Given the description of an element on the screen output the (x, y) to click on. 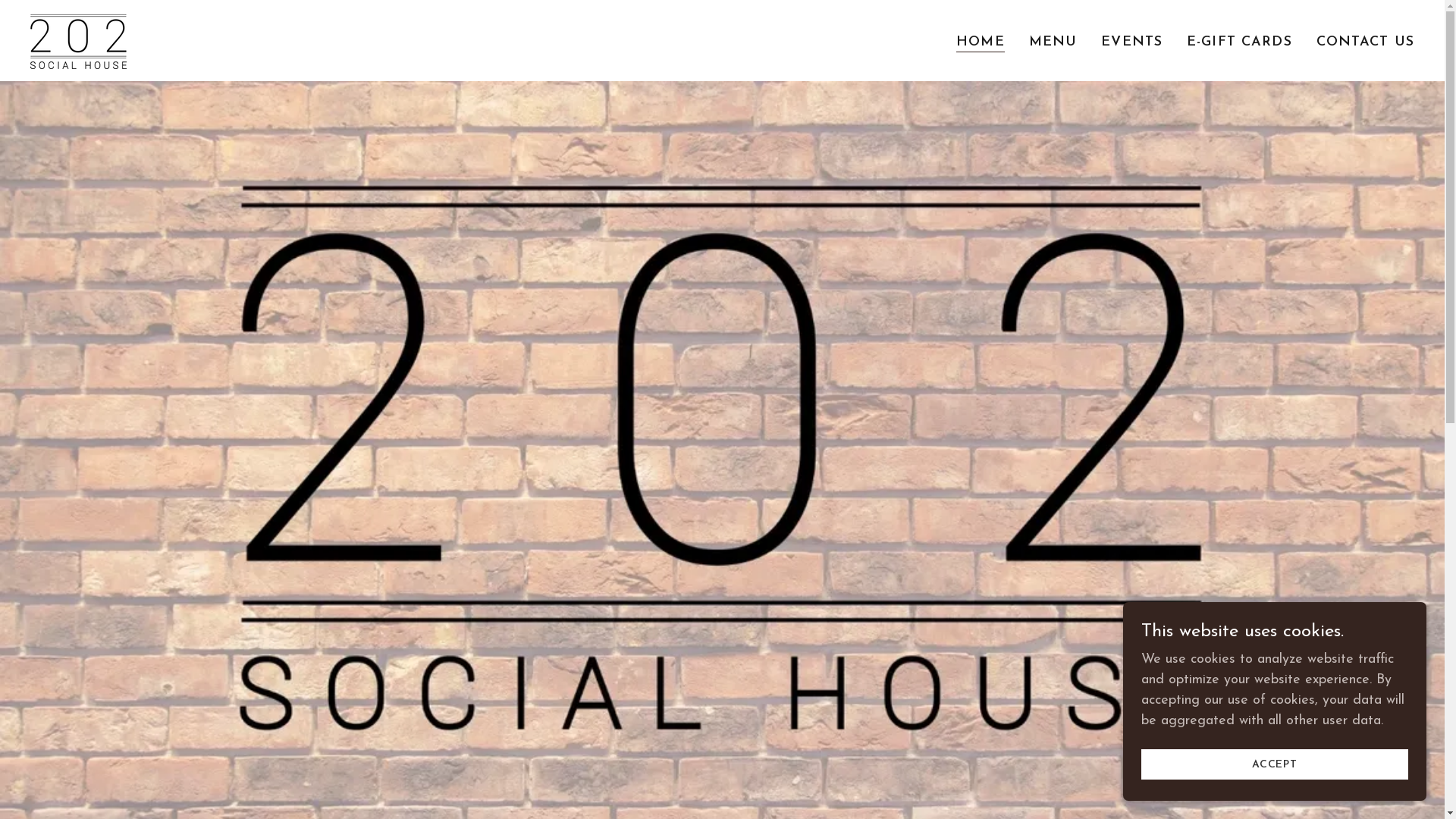
CONTACT US Element type: text (1364, 42)
E-GIFT CARDS Element type: text (1239, 42)
EVENTS Element type: text (1131, 42)
MENU Element type: text (1053, 42)
ACCEPT Element type: text (1274, 764)
HOME Element type: text (980, 42)
202 Social House Element type: hover (78, 39)
